Given the description of an element on the screen output the (x, y) to click on. 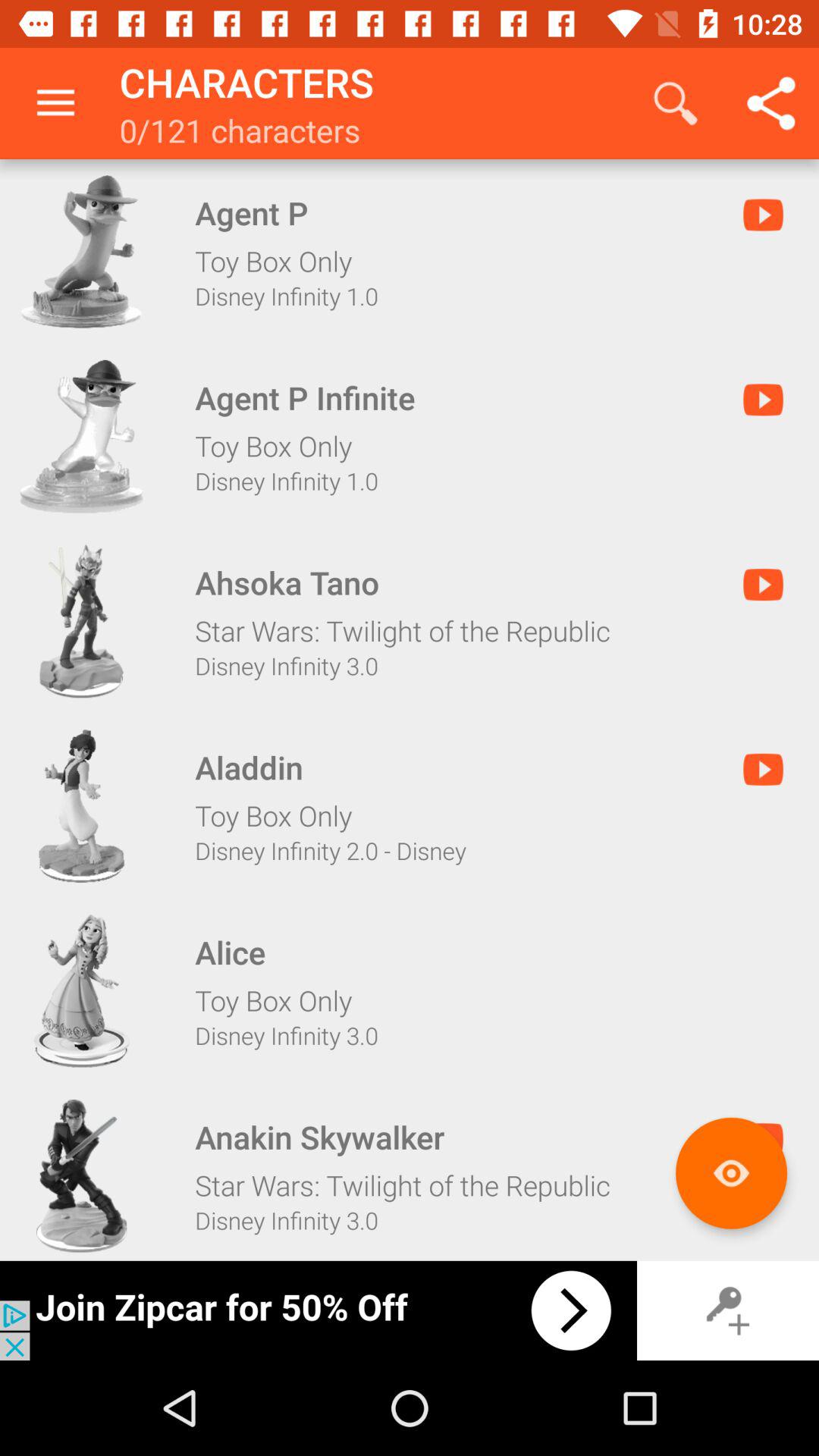
go to previous (318, 1310)
